Given the description of an element on the screen output the (x, y) to click on. 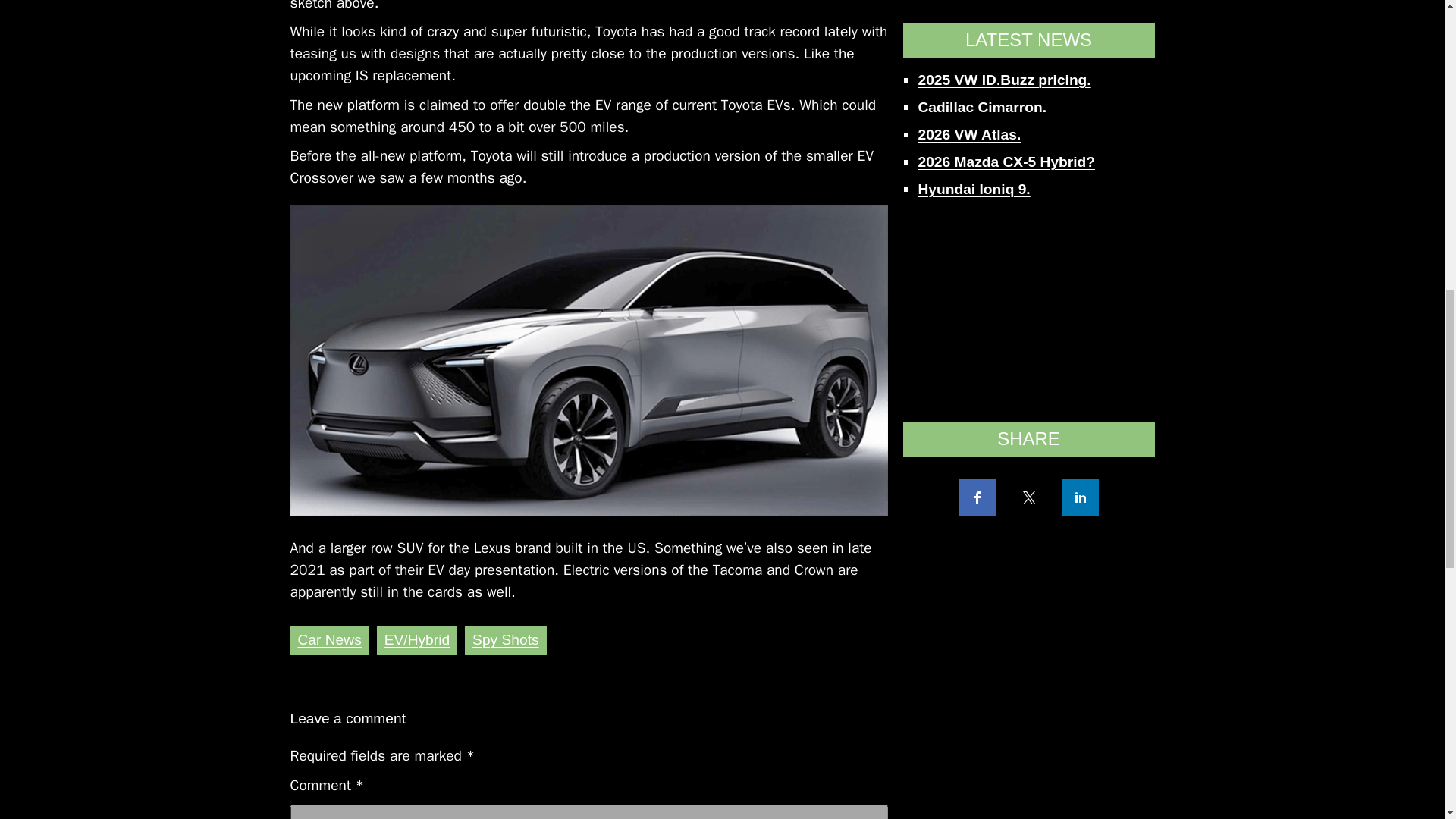
Spy Shots (504, 639)
Car News (329, 639)
Advertisement (1028, 14)
